Given the description of an element on the screen output the (x, y) to click on. 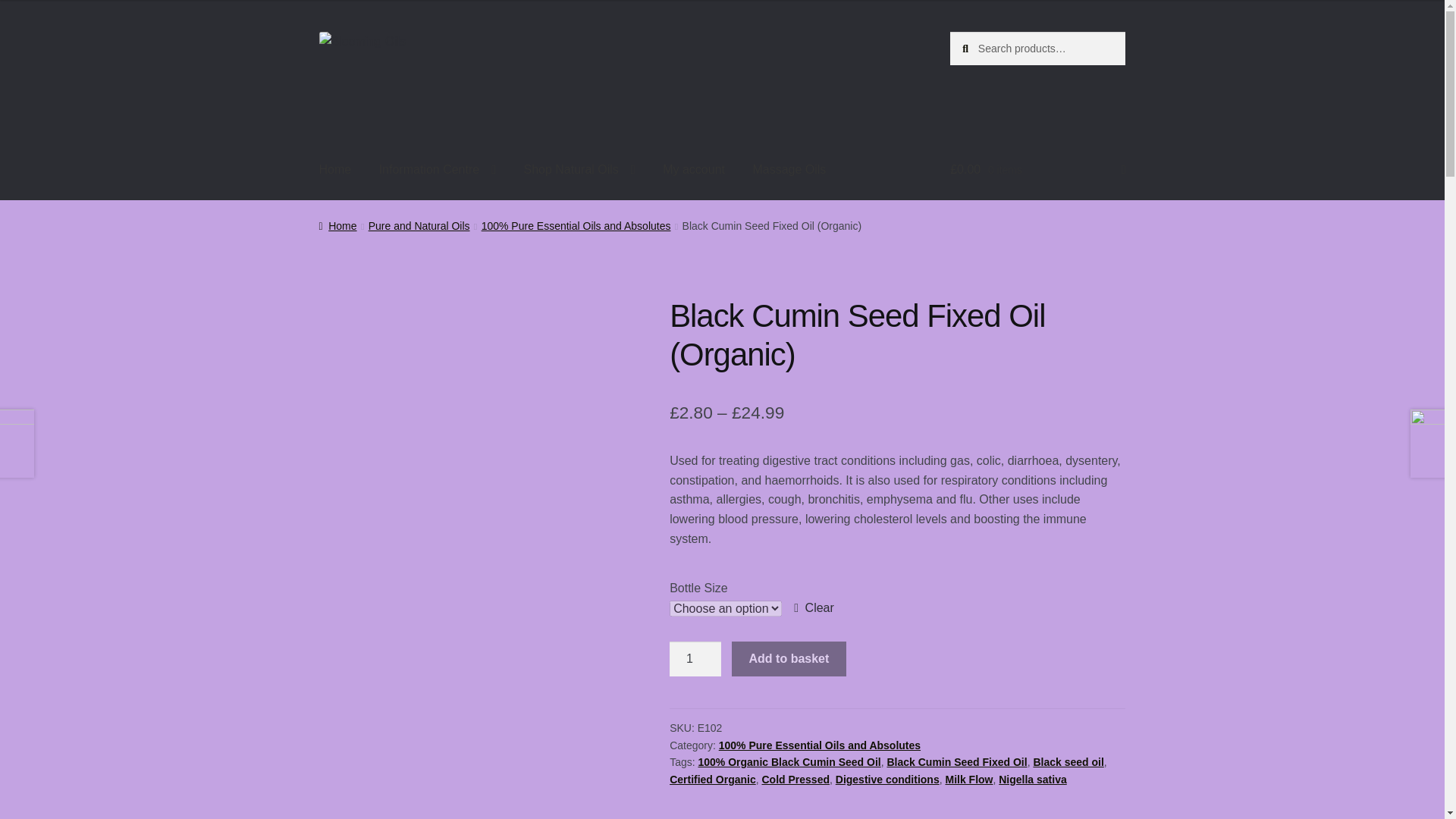
Home (335, 169)
View your shopping basket (1037, 169)
Information Centre (437, 169)
Shop Natural Oils (578, 169)
1 (694, 658)
